Given the description of an element on the screen output the (x, y) to click on. 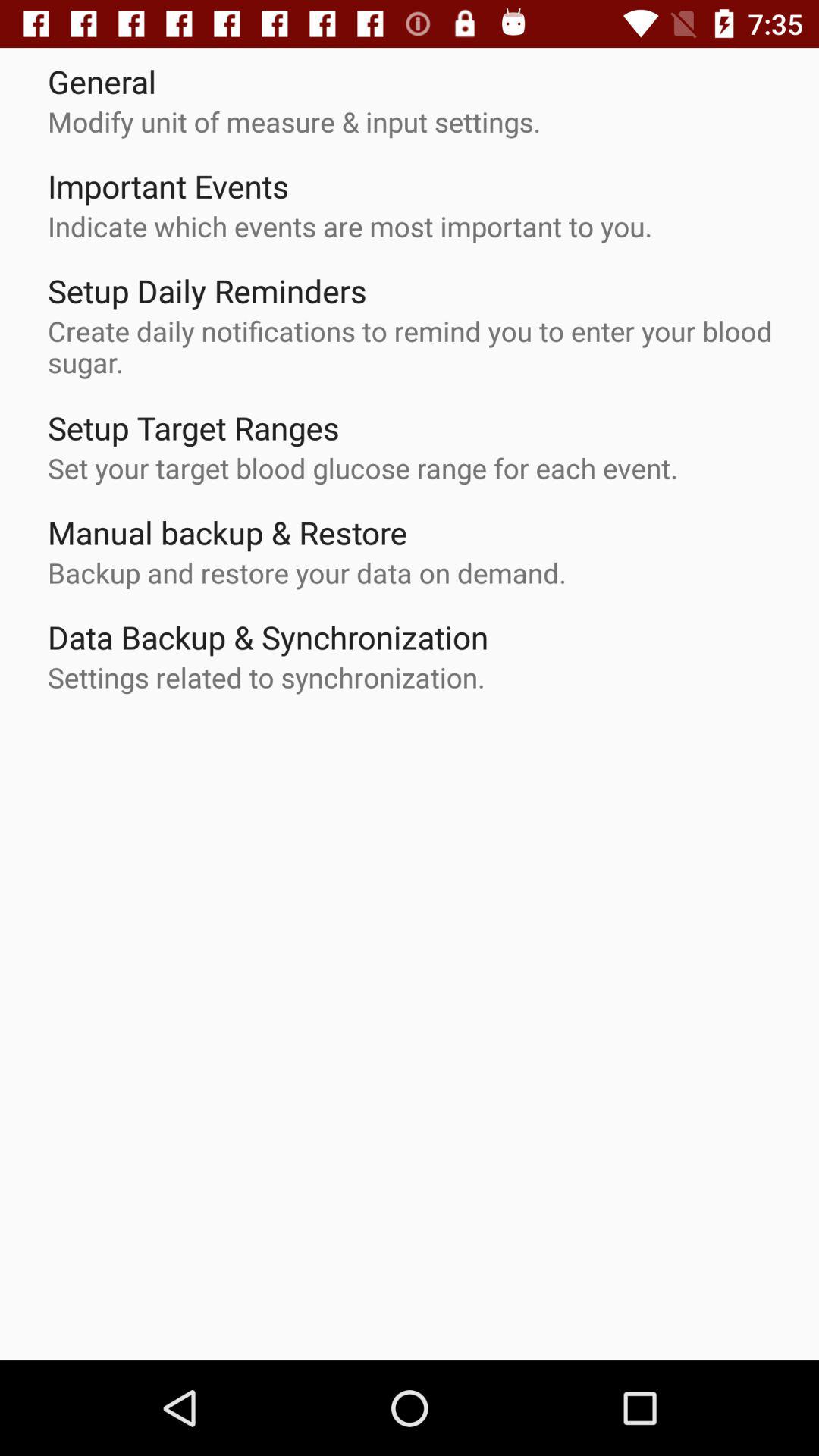
turn on the setup daily reminders icon (206, 290)
